Given the description of an element on the screen output the (x, y) to click on. 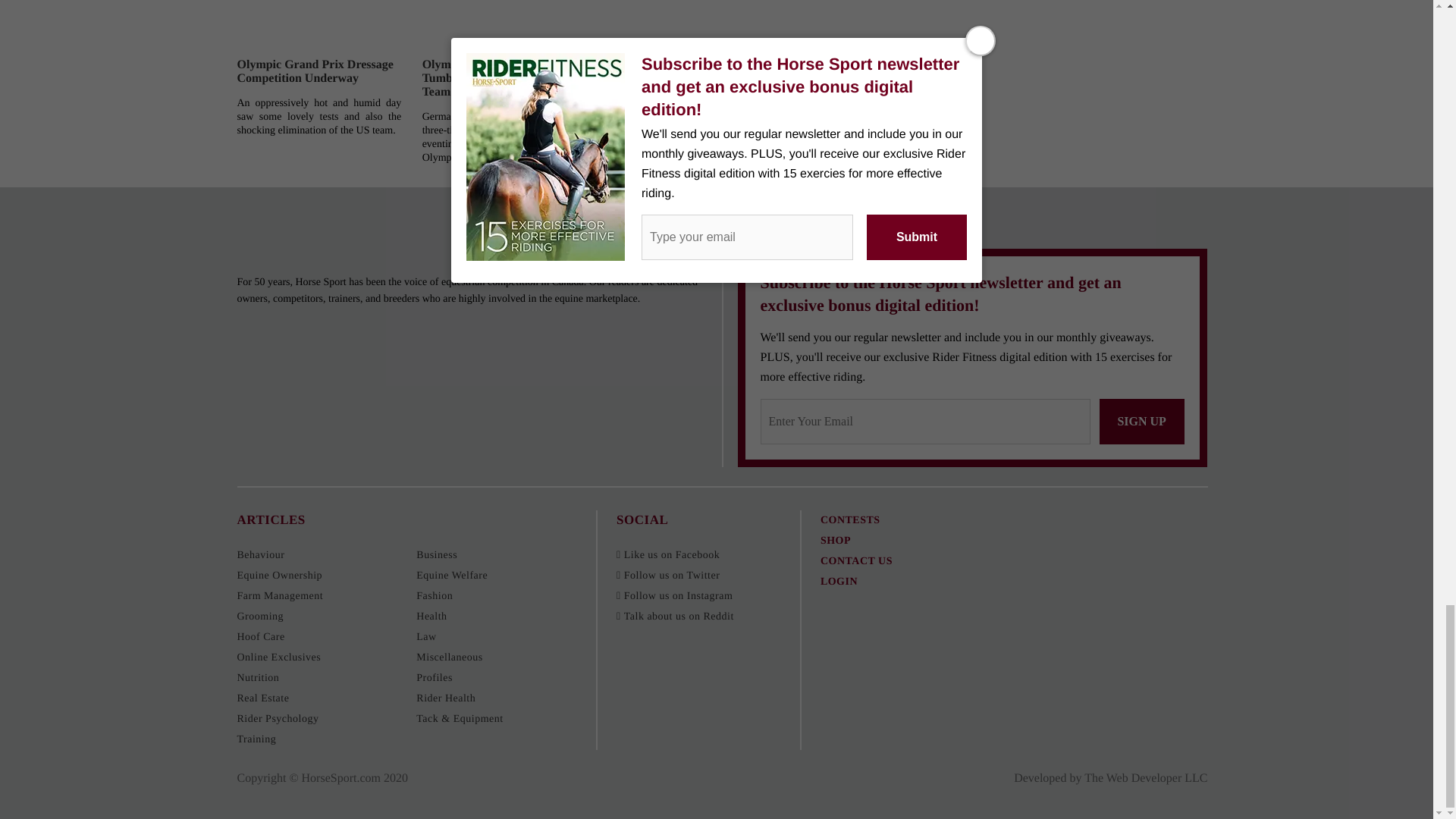
Olympic Grand Prix Dressage Competition Underway (314, 71)
